Given the description of an element on the screen output the (x, y) to click on. 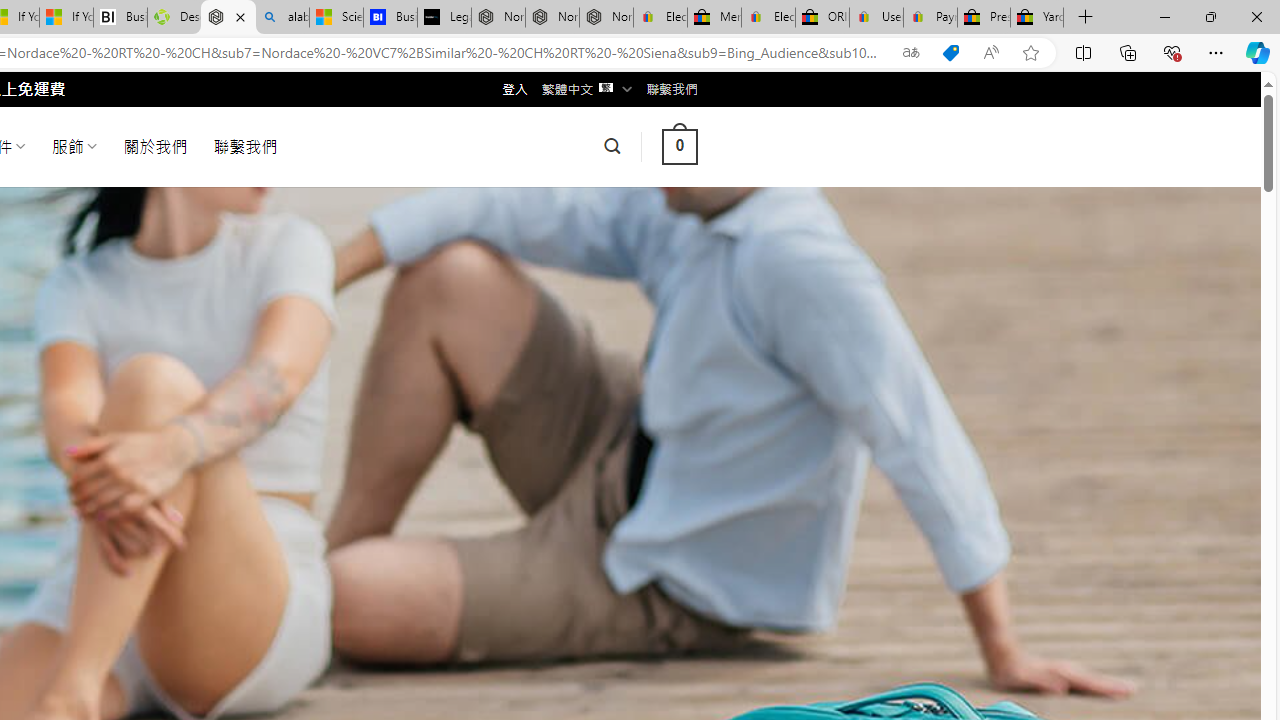
Payments Terms of Use | eBay.com (930, 17)
This site has coupons! Shopping in Microsoft Edge (950, 53)
Show translate options (910, 53)
